Given the description of an element on the screen output the (x, y) to click on. 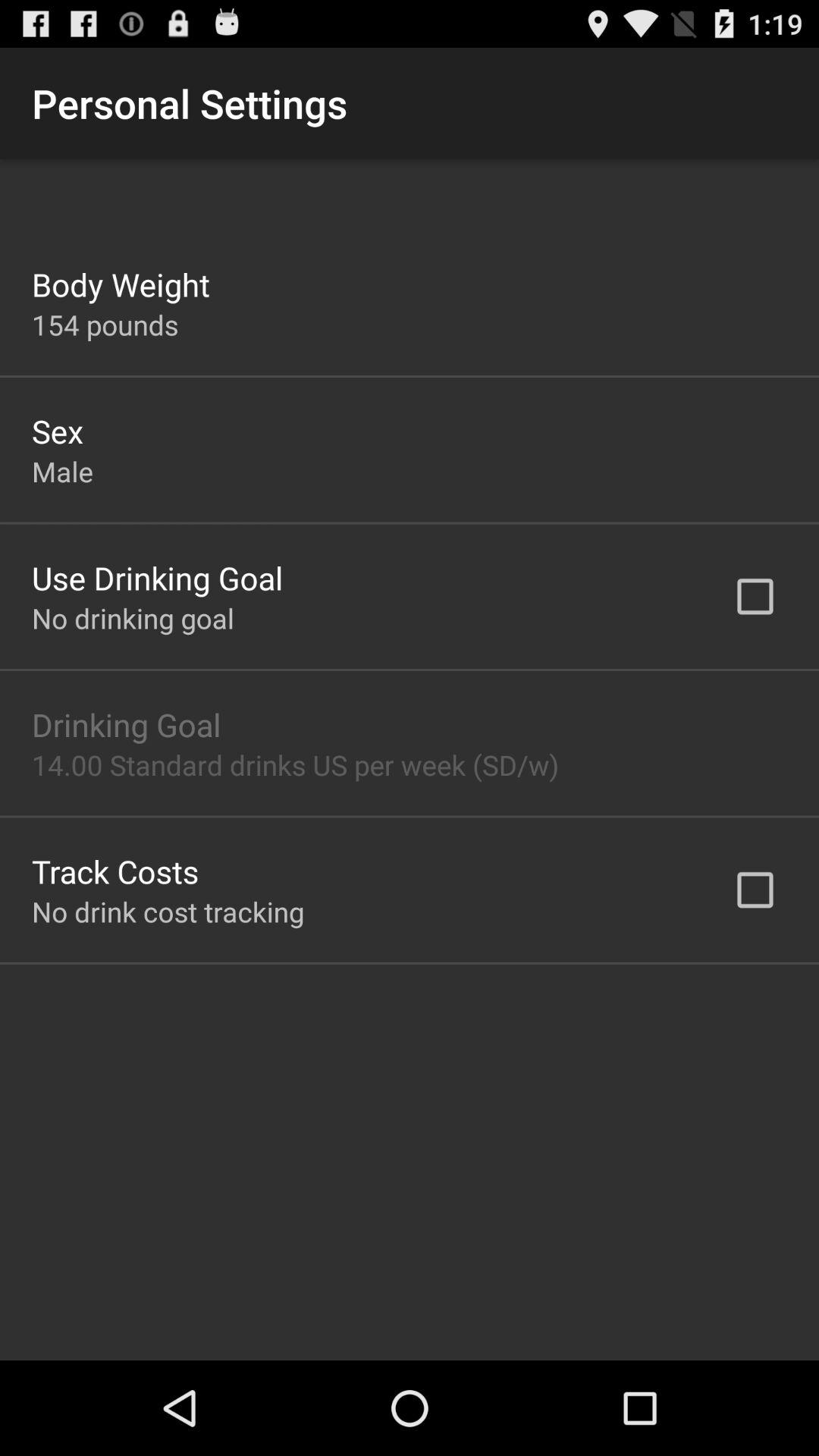
open icon above sex (104, 324)
